Given the description of an element on the screen output the (x, y) to click on. 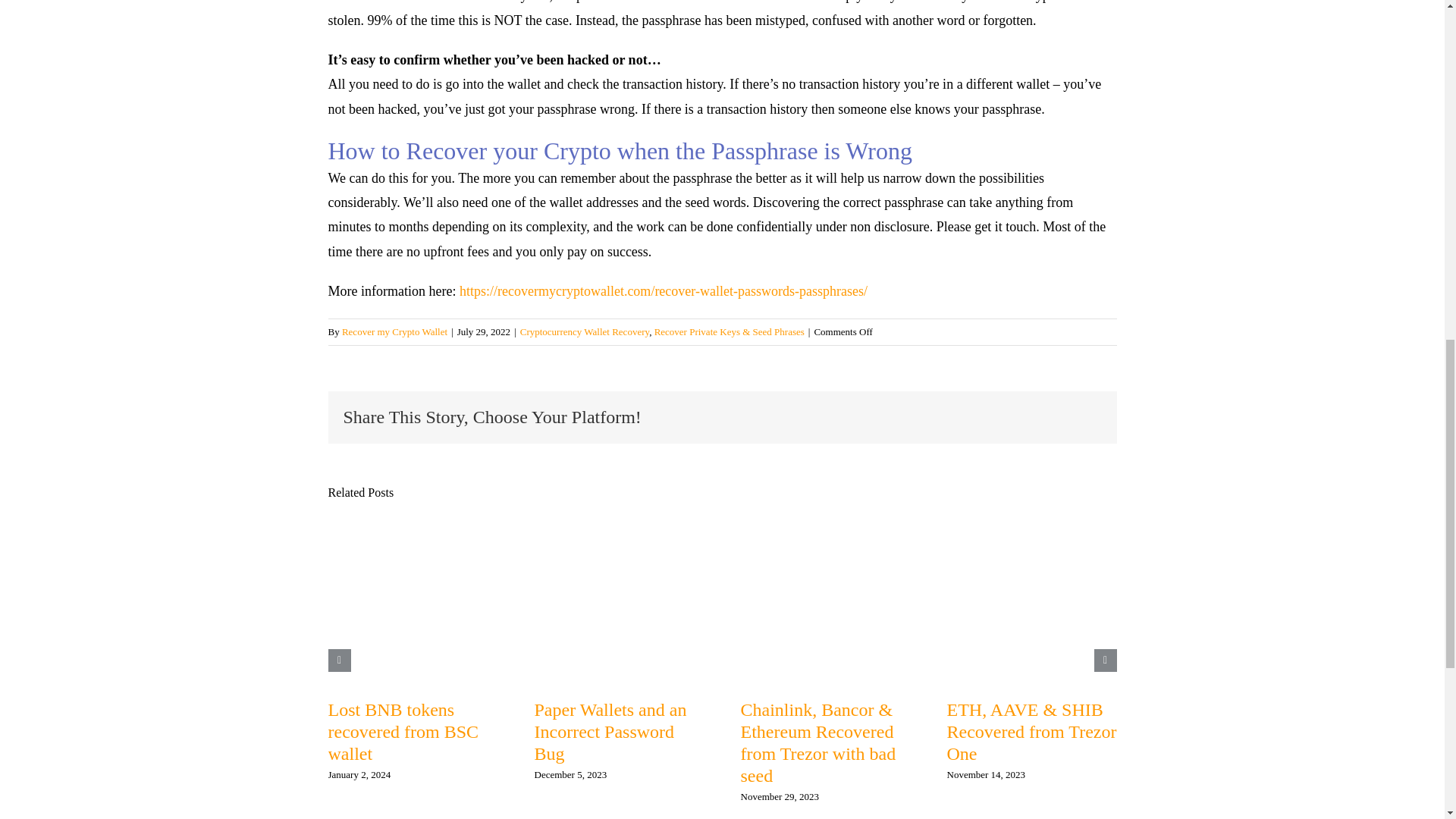
Lost BNB tokens recovered from BSC wallet (403, 731)
Recover my Crypto Wallet (394, 331)
Lost BNB tokens recovered from BSC wallet (403, 731)
Posts by Recover my Crypto Wallet (394, 331)
Paper Wallets and an Incorrect Password Bug (609, 731)
Cryptocurrency Wallet Recovery (584, 331)
Paper Wallets and an Incorrect Password Bug (609, 731)
